Given the description of an element on the screen output the (x, y) to click on. 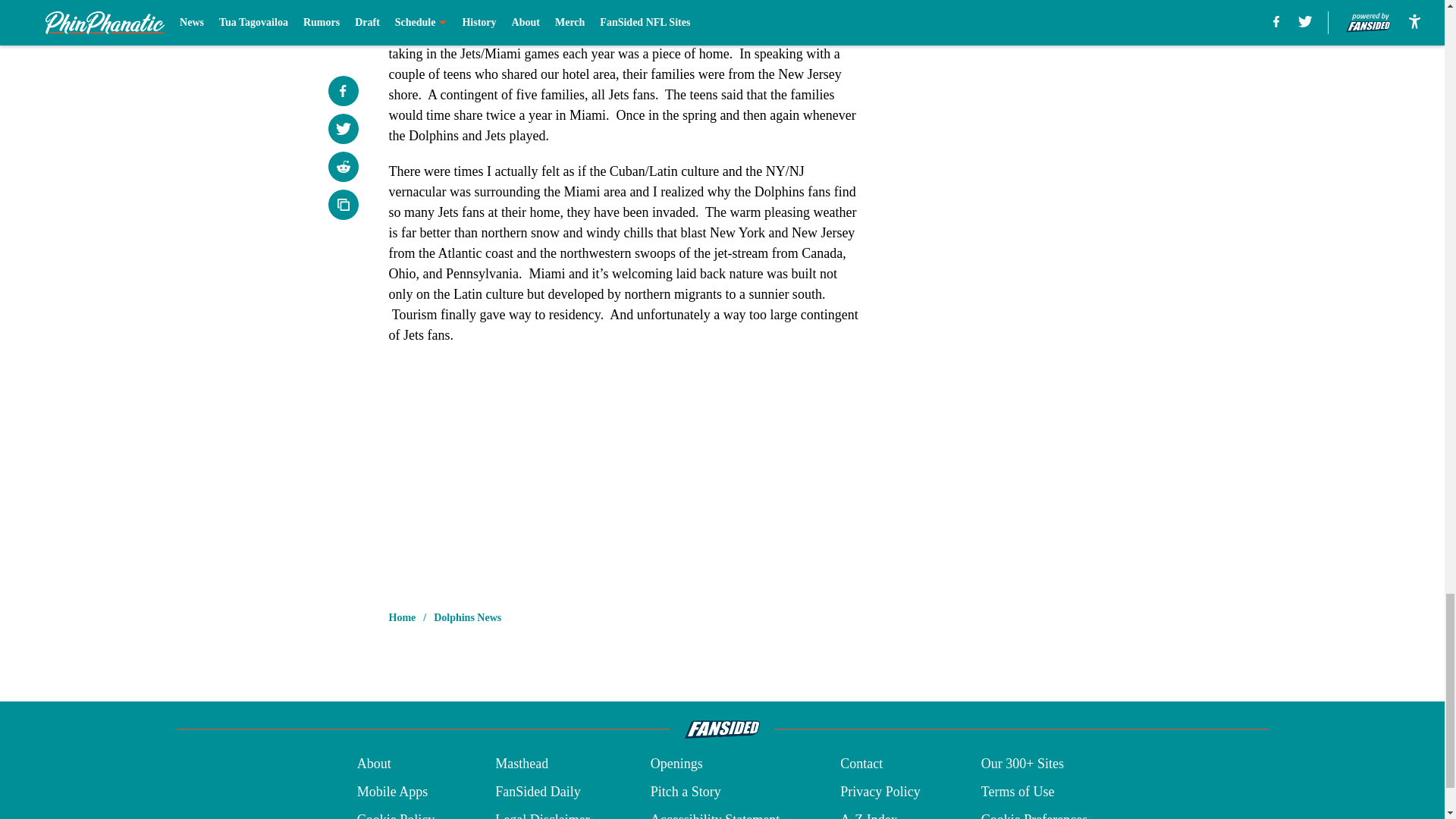
Home (401, 617)
Contact (861, 763)
Masthead (521, 763)
FanSided Daily (537, 792)
About (373, 763)
Cookie Policy (395, 814)
Accessibility Statement (714, 814)
Terms of Use (1017, 792)
Openings (676, 763)
A-Z Index (868, 814)
Pitch a Story (685, 792)
Privacy Policy (880, 792)
Dolphins News (466, 617)
Legal Disclaimer (542, 814)
Mobile Apps (392, 792)
